Given the description of an element on the screen output the (x, y) to click on. 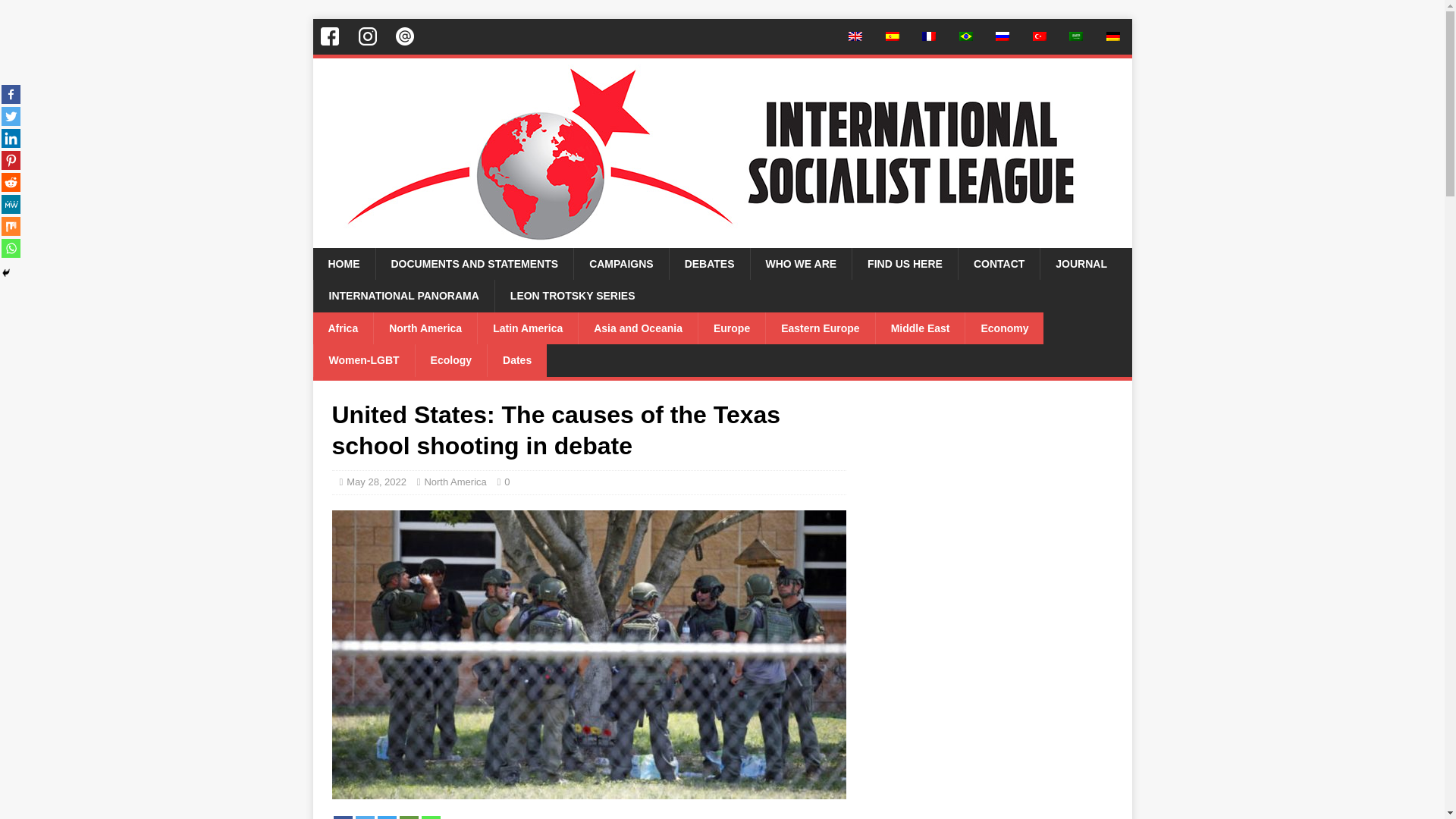
Mix (10, 226)
Twitter (10, 116)
HOME (343, 264)
International Socialist League (722, 239)
Whatsapp (10, 248)
DEBATES (708, 264)
Facebook (10, 94)
MeWe (10, 203)
Whatsapp (431, 817)
Facebook (342, 817)
Reddit (10, 181)
DOCUMENTS AND STATEMENTS (473, 264)
CAMPAIGNS (620, 264)
Linkedin (10, 138)
Email (407, 817)
